Given the description of an element on the screen output the (x, y) to click on. 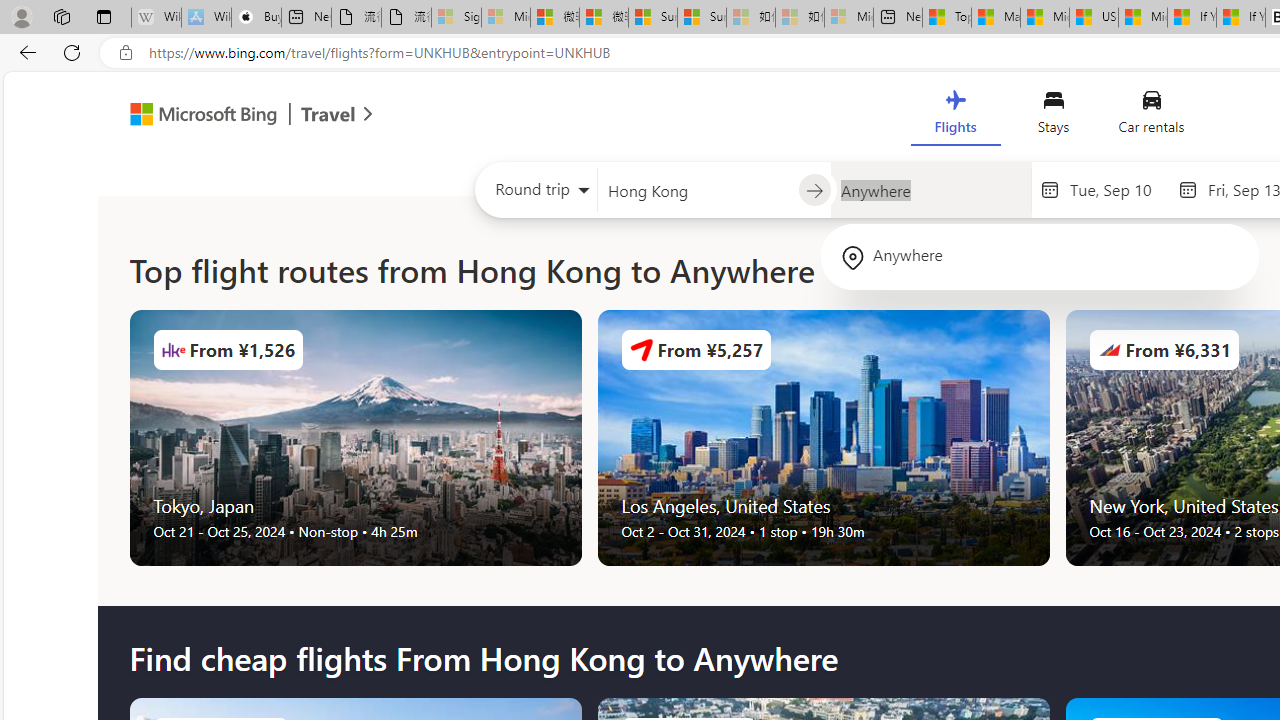
Class: autosuggest-container full-height no-y-padding (930, 190)
Sign in to your Microsoft account - Sleeping (456, 17)
Microsoft Bing (194, 116)
Class: msft-bing-logo msft-bing-logo-desktop (198, 114)
Flights (955, 116)
Marine life - MSN (995, 17)
Car rentals (1150, 116)
Start Date (1118, 189)
